Given the description of an element on the screen output the (x, y) to click on. 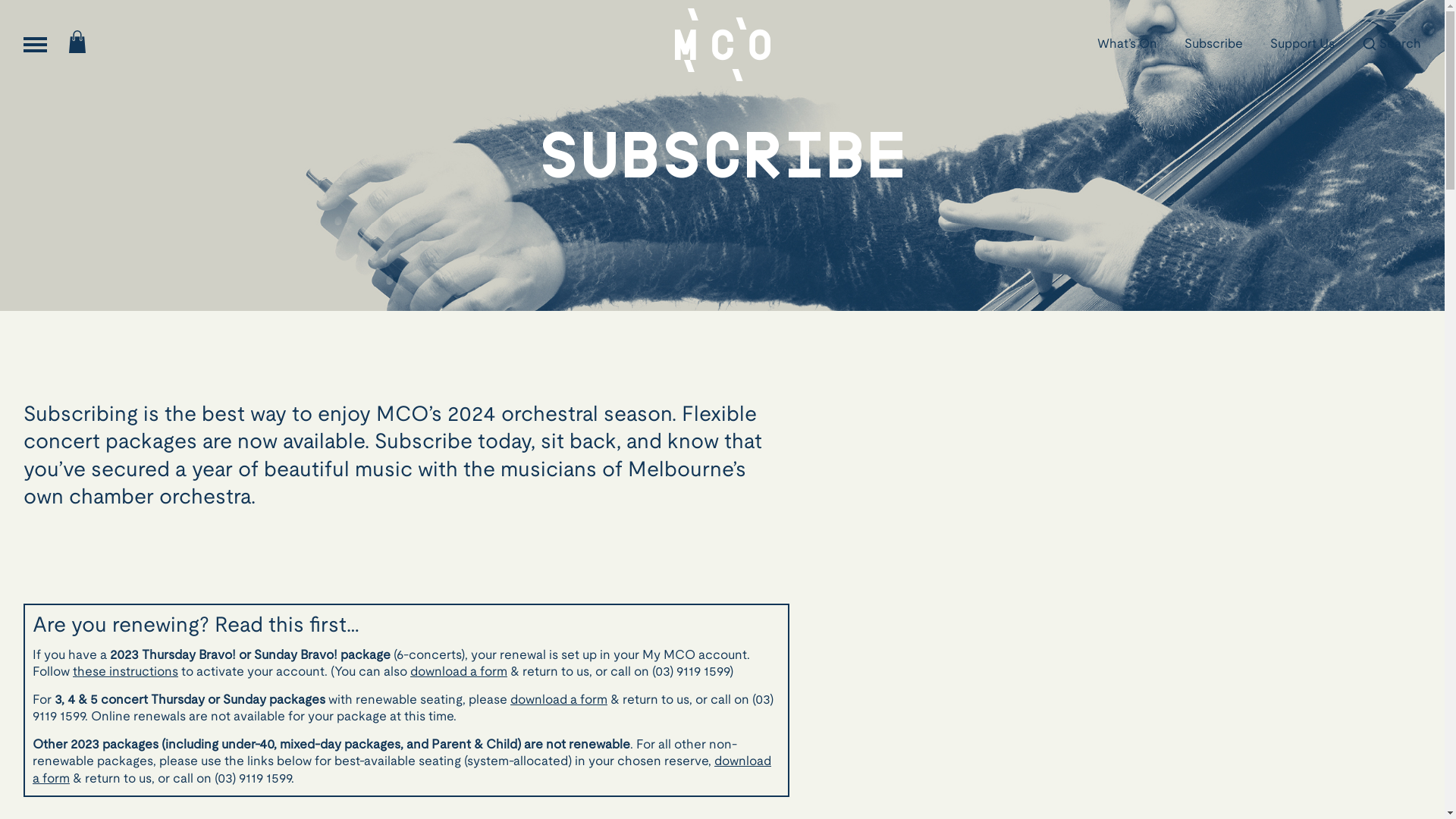
download a form Element type: text (401, 770)
download a form Element type: text (458, 671)
these instructions Element type: text (125, 671)
Search Element type: text (1391, 44)
download a form Element type: text (558, 700)
Subscribe Element type: text (1213, 44)
Support Us Element type: text (1302, 44)
